Given the description of an element on the screen output the (x, y) to click on. 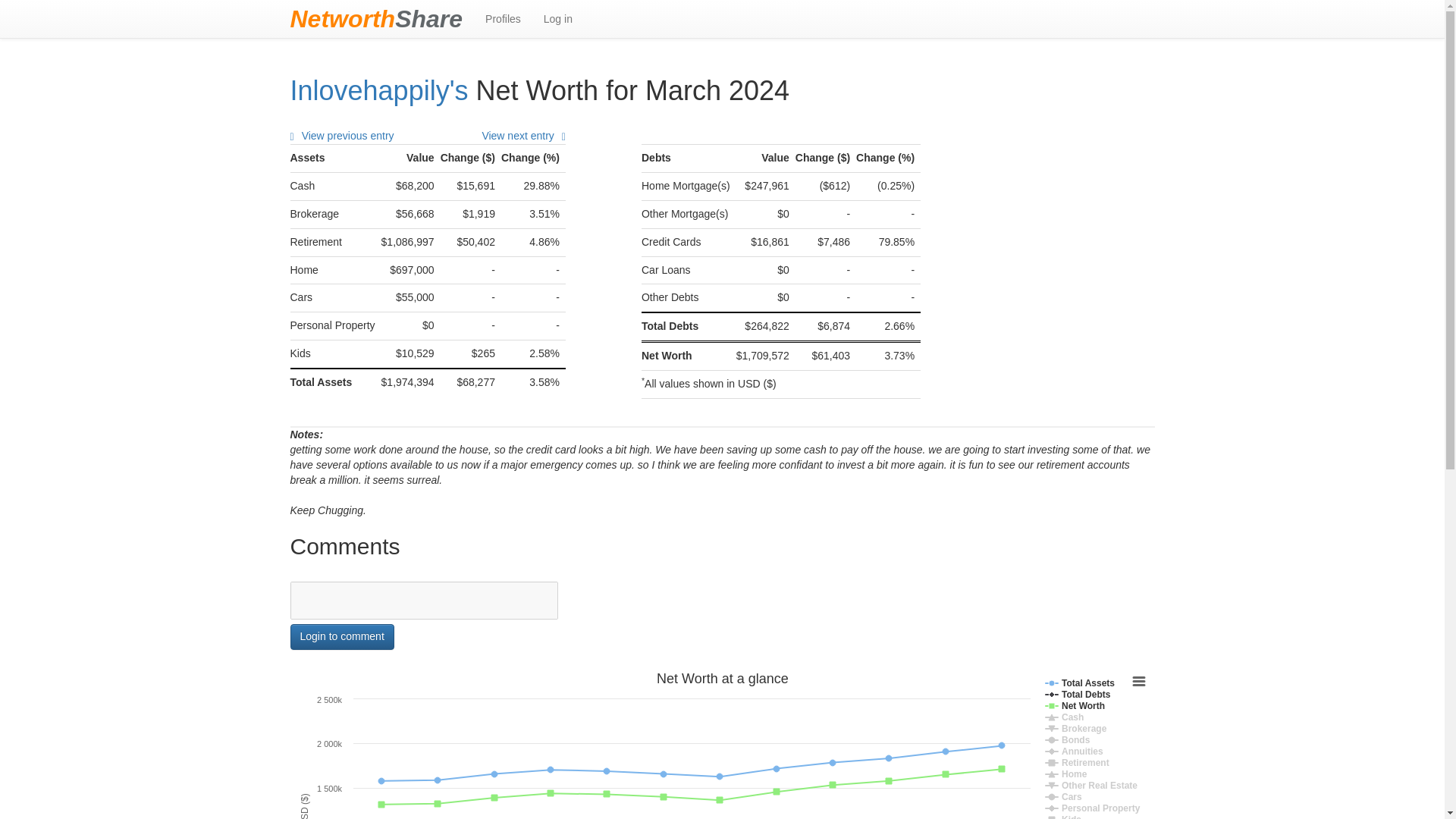
Profiles (503, 18)
1000 character max (423, 600)
Inlovehappily's (378, 90)
Log in (557, 18)
Login to comment (341, 637)
Login to comment (341, 637)
View previous entry (341, 135)
NetworthShare (376, 18)
View next entry (523, 135)
